Given the description of an element on the screen output the (x, y) to click on. 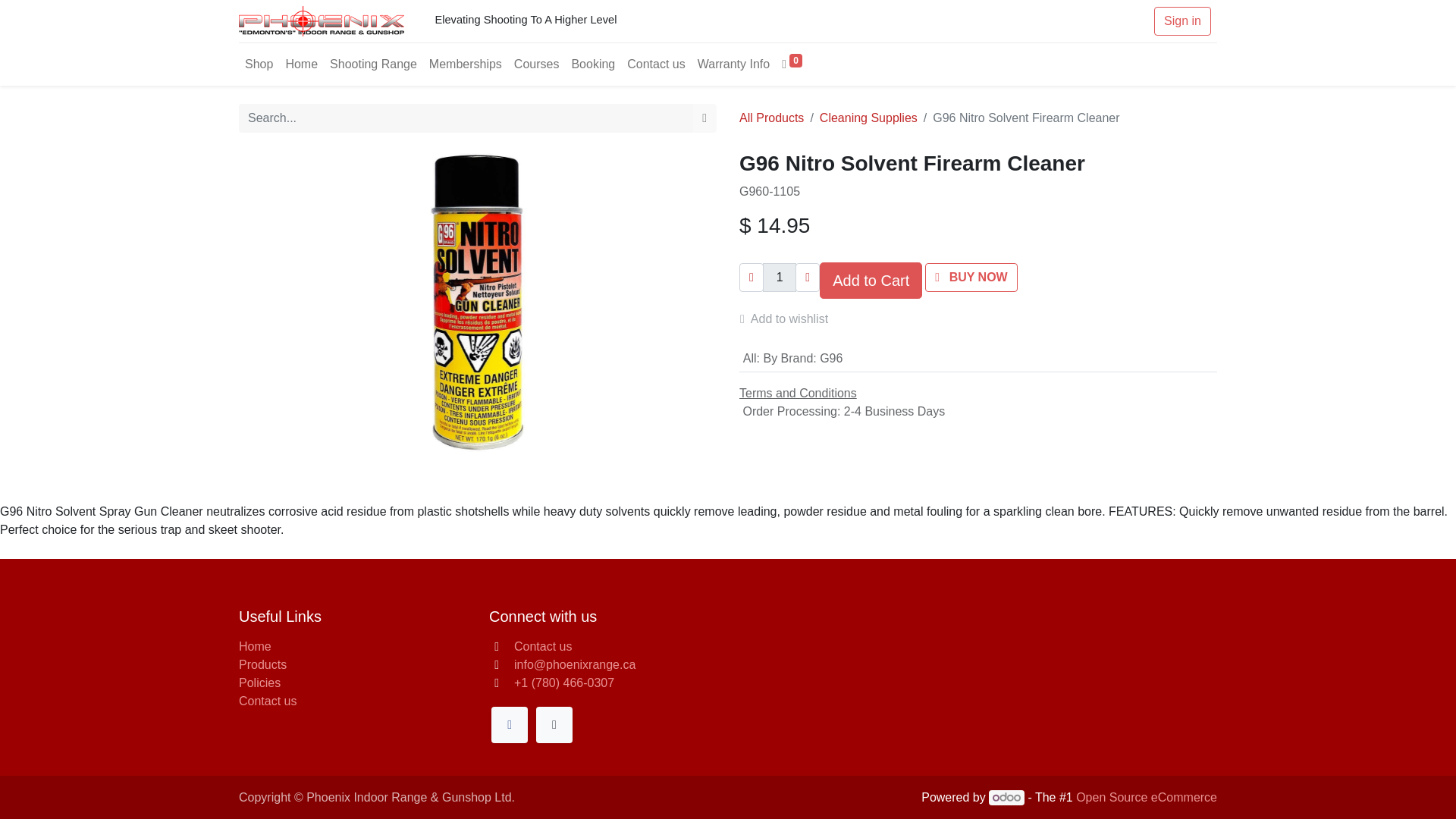
Cleaning Supplies (868, 117)
All Products (771, 117)
BUY NOW (970, 276)
1 (779, 276)
Contact us (542, 645)
Add to wishlist (790, 318)
Products (262, 664)
Booking (592, 64)
Contact us (655, 64)
Open Source eCommerce (1146, 797)
Sign in (1182, 21)
0 (792, 64)
Add to Cart (870, 280)
Terms and Conditions (798, 392)
Courses (537, 64)
